Given the description of an element on the screen output the (x, y) to click on. 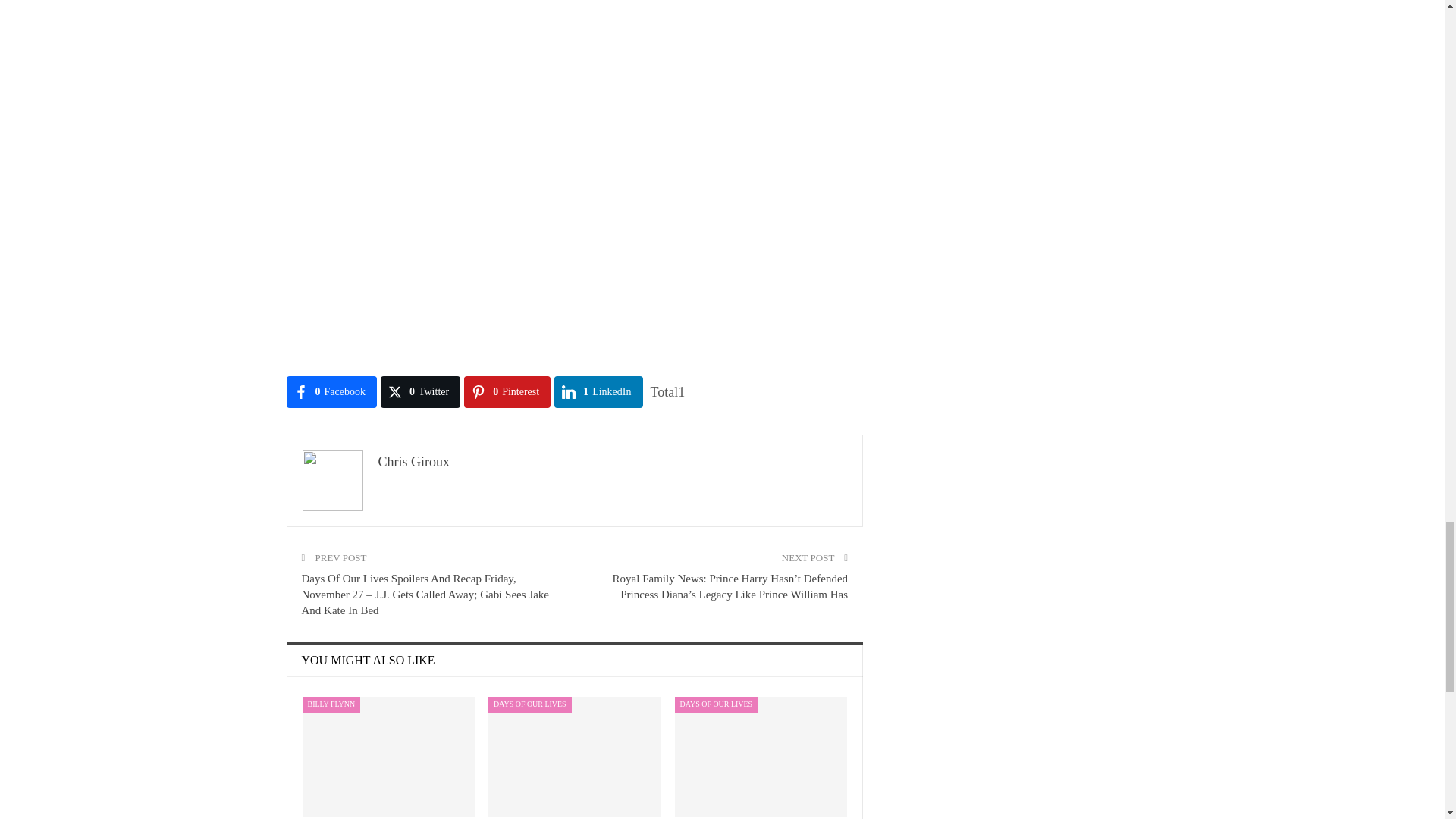
Share on Facebook (331, 391)
Share on Twitter (420, 391)
Total (667, 391)
Share on Pinterest (507, 391)
Share on LinkedIn (598, 391)
